Given the description of an element on the screen output the (x, y) to click on. 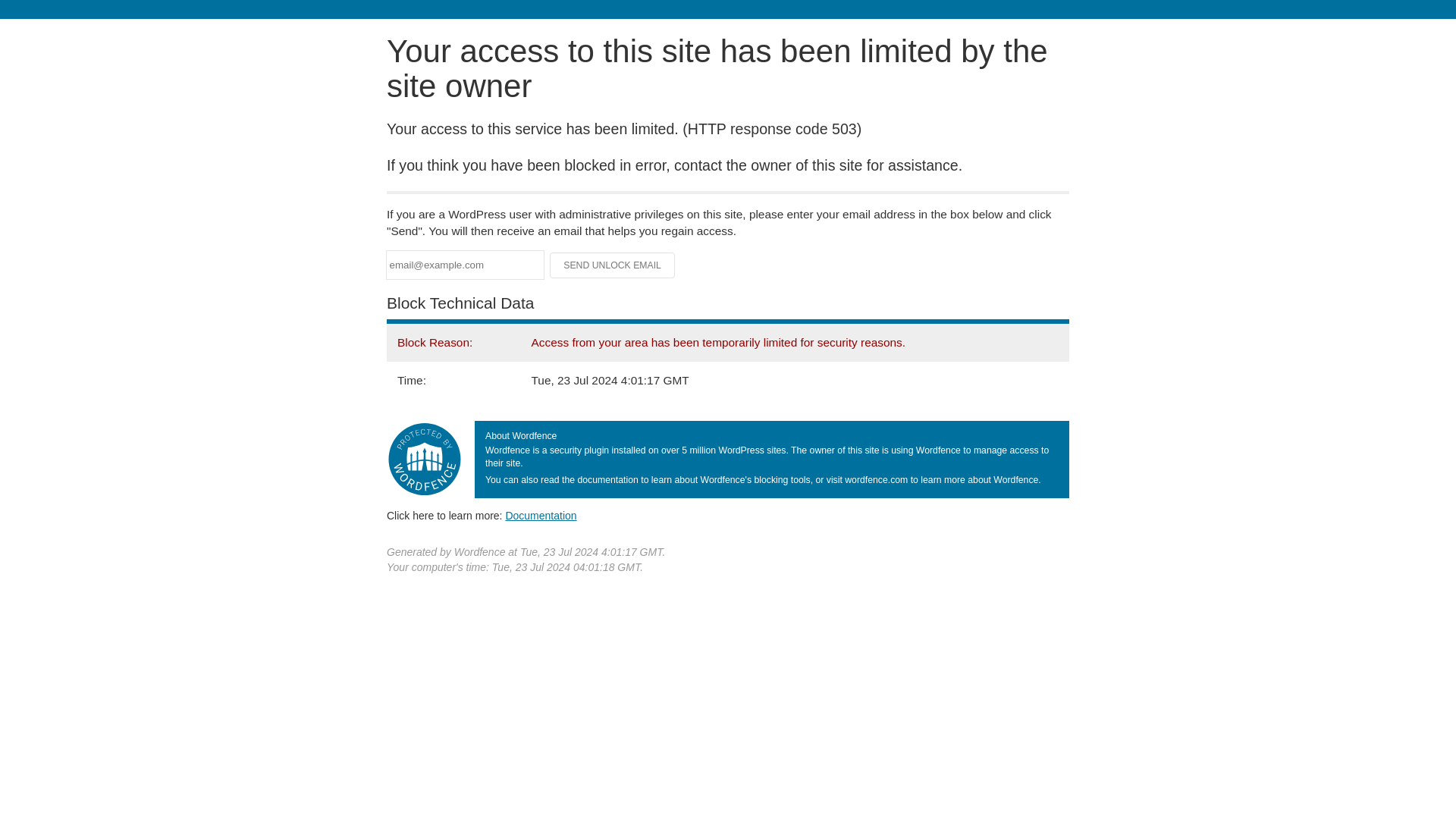
Documentation (540, 515)
Send Unlock Email (612, 265)
Send Unlock Email (612, 265)
